Given the description of an element on the screen output the (x, y) to click on. 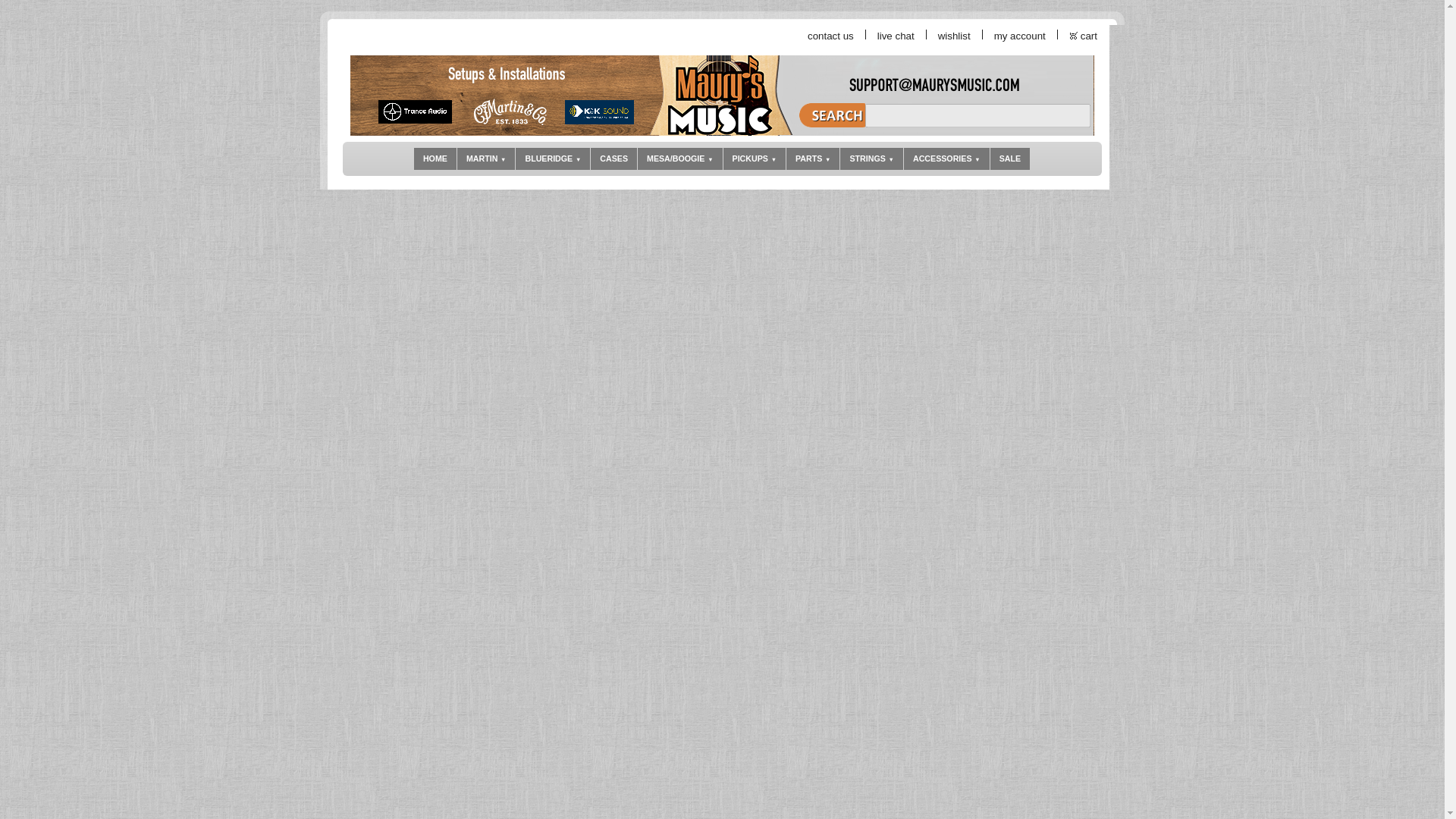
MARTIN (486, 158)
STRINGS (871, 158)
live chat (896, 36)
HOME (435, 158)
cart (1089, 36)
contact us (832, 36)
PARTS (813, 158)
CASES (614, 158)
my account (1020, 36)
ACCESSORIES (947, 158)
